Given the description of an element on the screen output the (x, y) to click on. 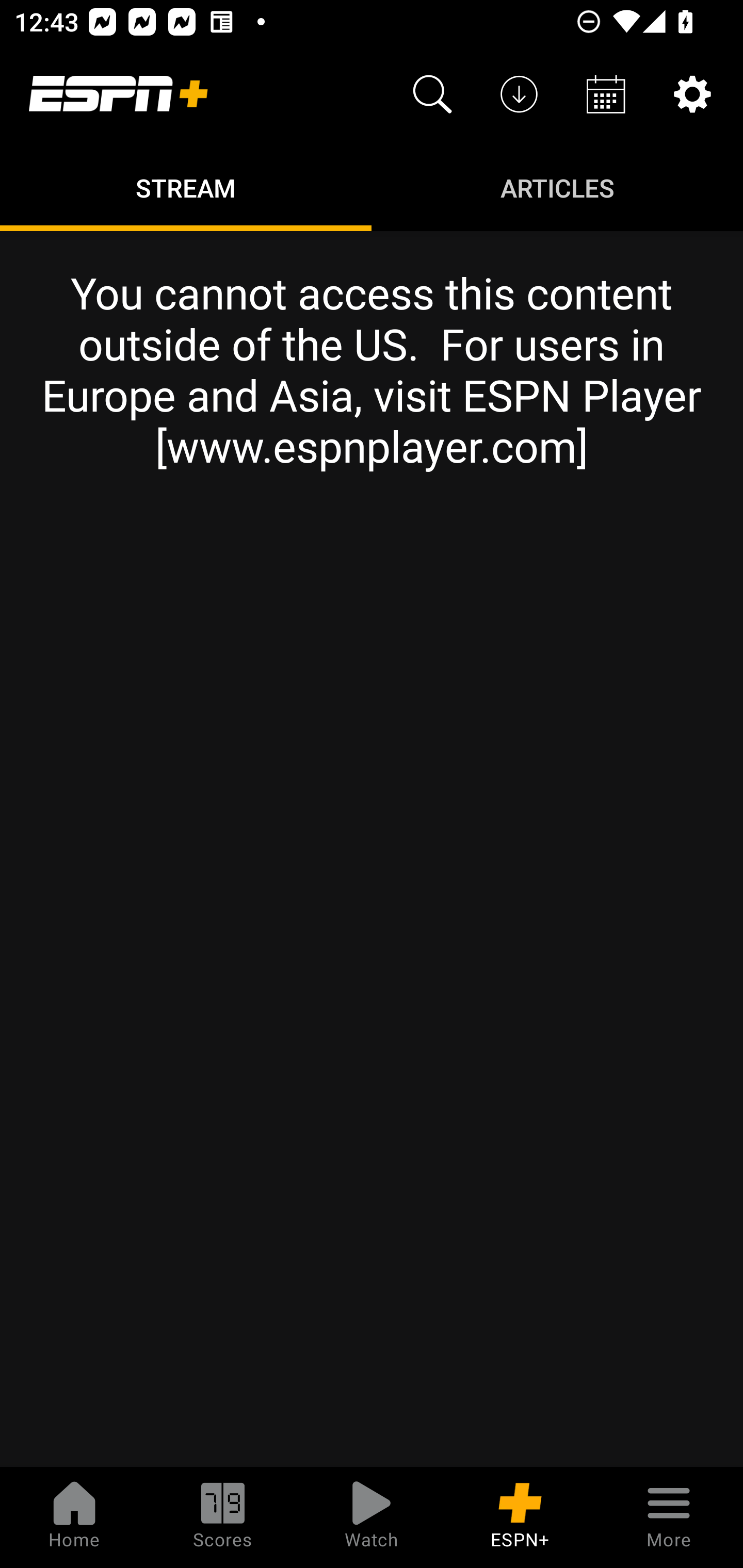
Search (432, 93)
Downloads (518, 93)
Schedule (605, 93)
Settings (692, 93)
Articles ARTICLES (557, 187)
Home (74, 1517)
Scores (222, 1517)
Watch (371, 1517)
More (668, 1517)
